Given the description of an element on the screen output the (x, y) to click on. 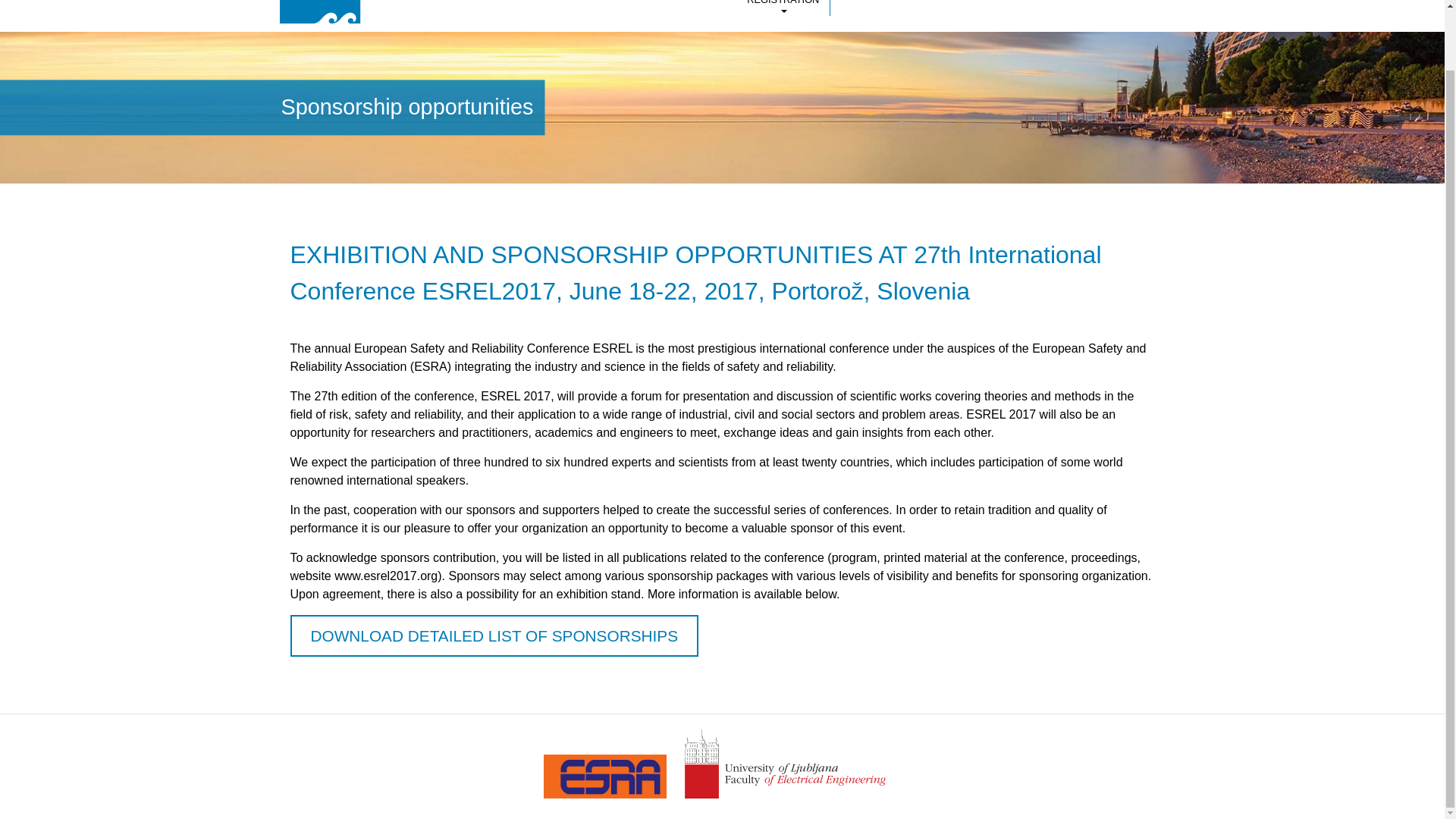
LOGIN, SUBMISSION AND REGISTRATION (782, 7)
DOWNLOAD DETAILED LIST OF SPONSORSHIPS (493, 635)
Login, submission and registration (782, 7)
